Given the description of an element on the screen output the (x, y) to click on. 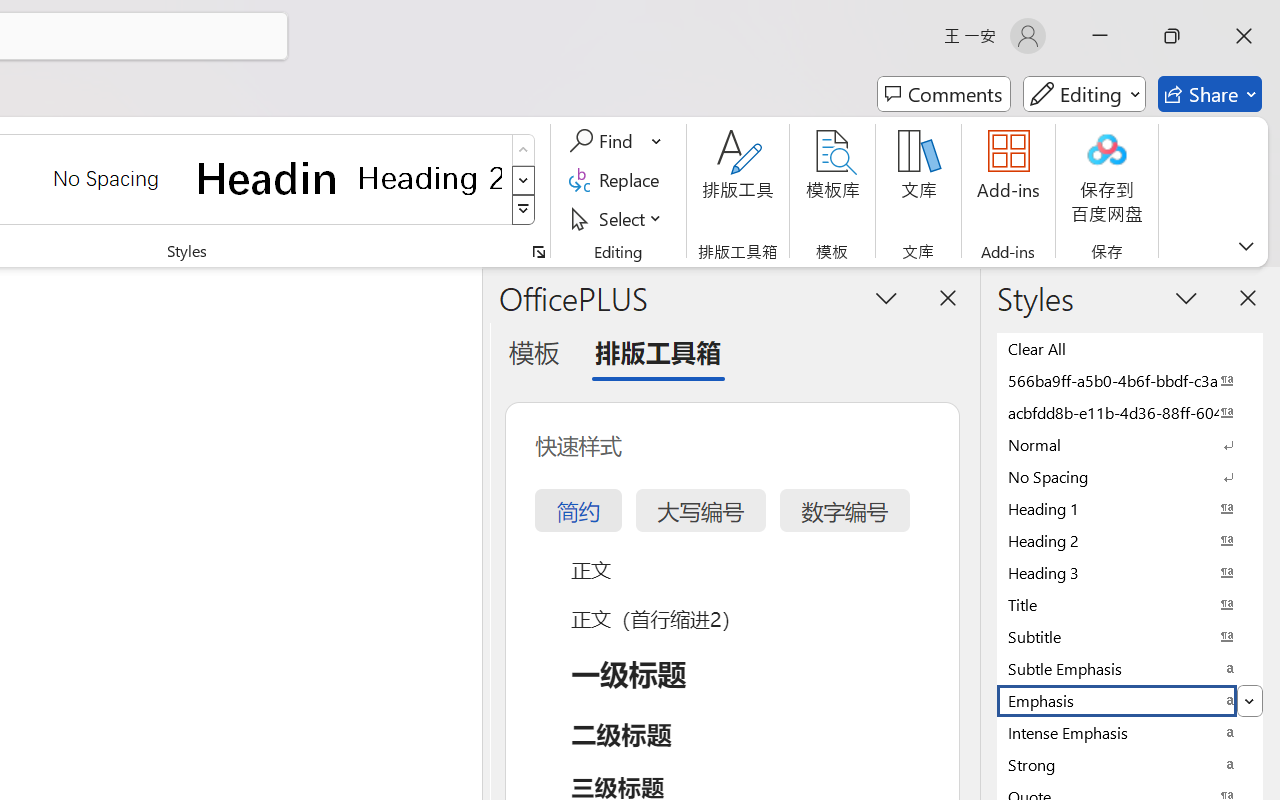
Mode (1083, 94)
Task Pane Options (886, 297)
